Given the description of an element on the screen output the (x, y) to click on. 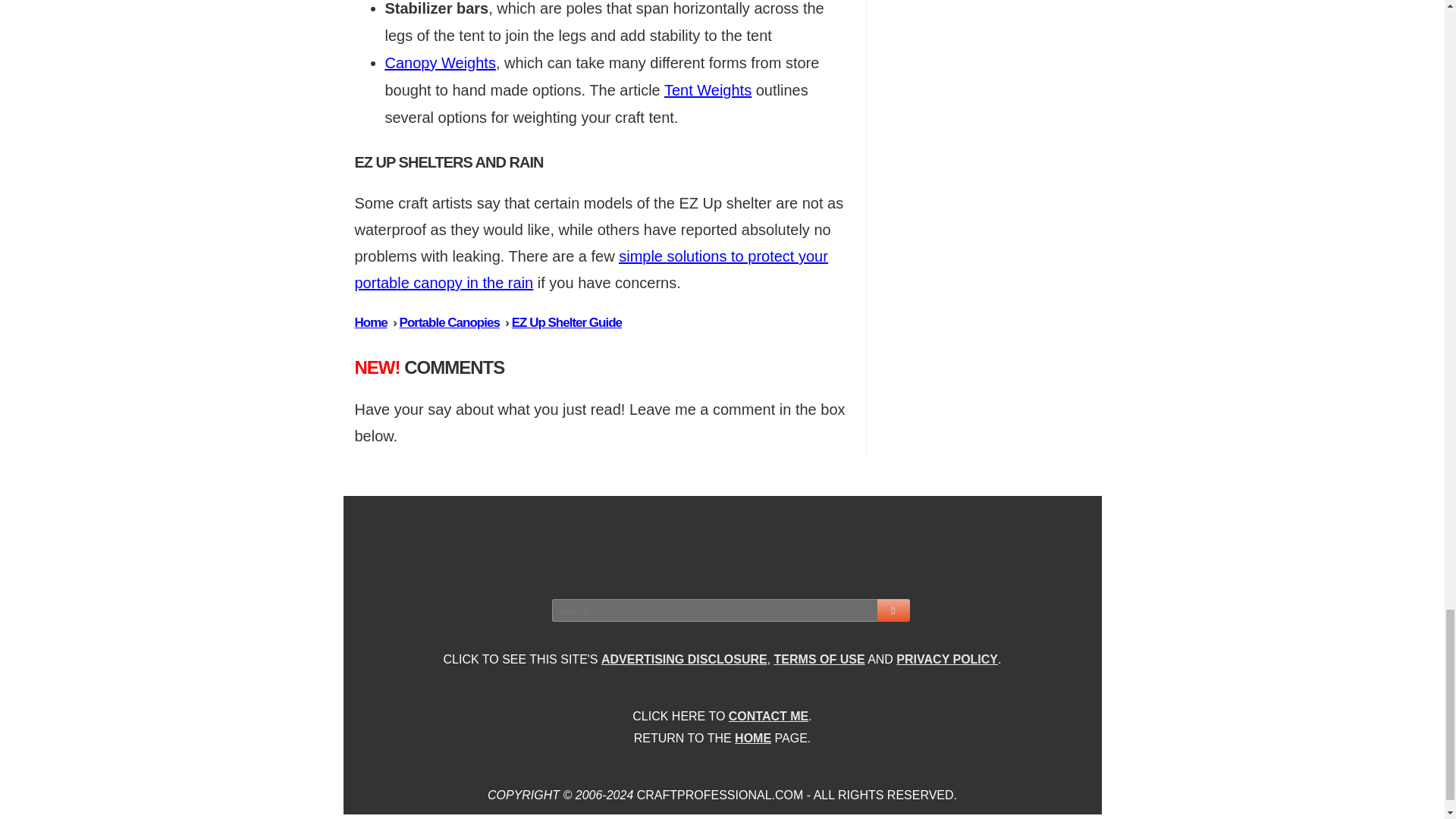
Portable Canopies (448, 322)
simple solutions to protect your portable canopy in the rain (591, 269)
ADVERTISING DISCLOSURE (684, 658)
Home (371, 322)
CONTACT ME (768, 716)
Tent Weights (707, 89)
Canopy Weights (440, 62)
PRIVACY POLICY (946, 658)
EZ Up Shelter Guide (566, 322)
Logo (722, 545)
TERMS OF USE (819, 658)
